Given the description of an element on the screen output the (x, y) to click on. 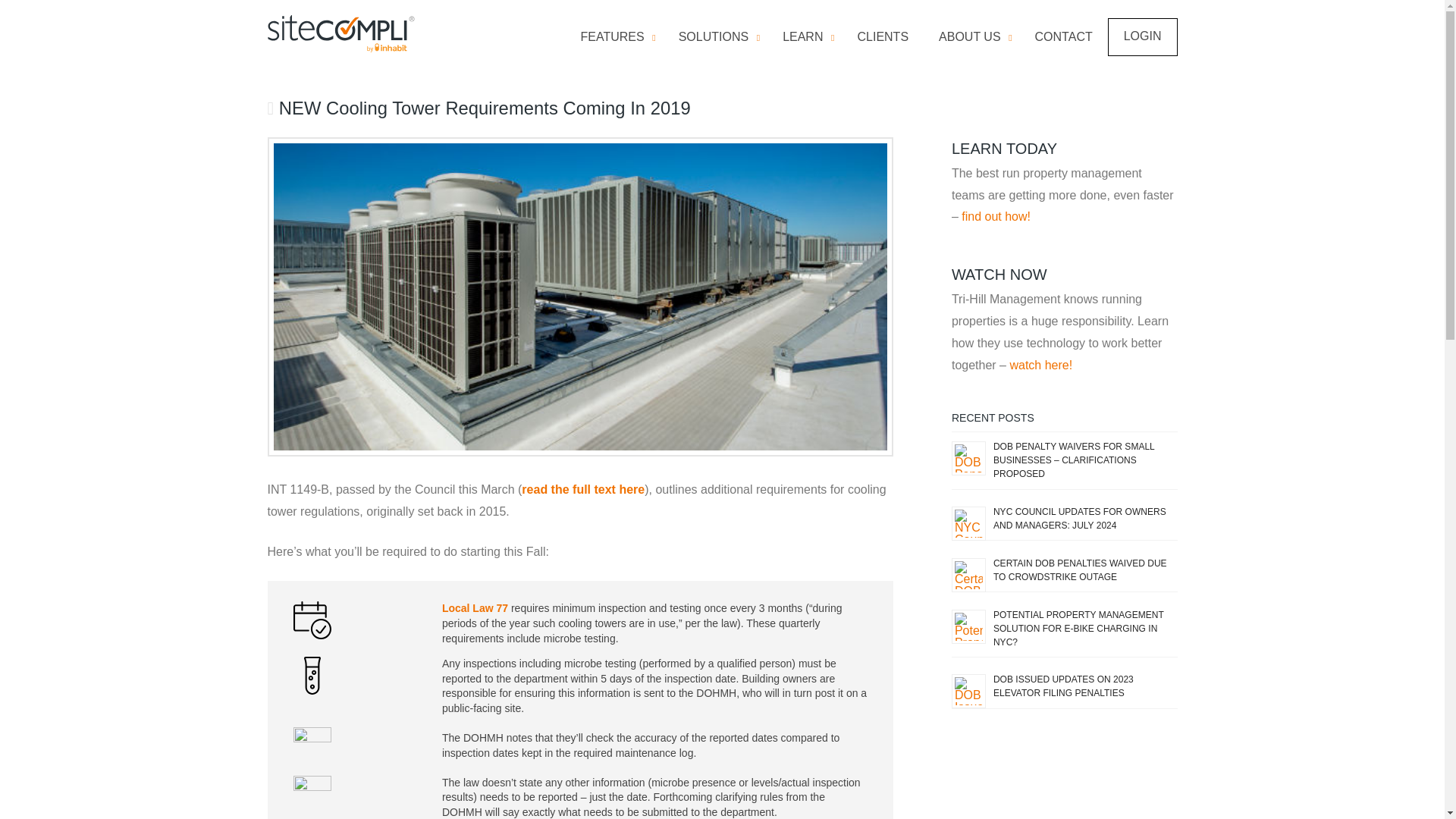
read the full text here (583, 489)
LOGIN (1142, 36)
ABOUT US (971, 37)
CLIENTS (882, 37)
LEARN (804, 37)
CONTACT (1064, 37)
Local Law 77 (475, 607)
SOLUTIONS (871, 37)
FEATURES (715, 37)
